Given the description of an element on the screen output the (x, y) to click on. 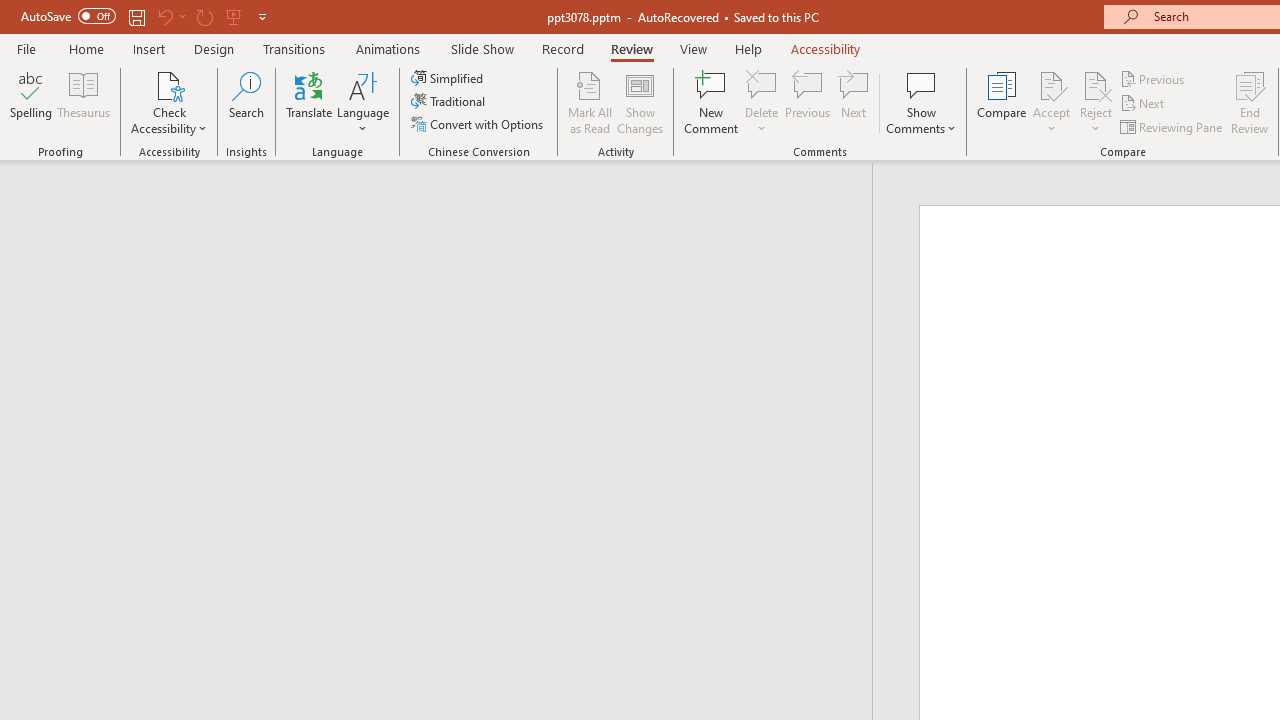
Reject (1096, 102)
Reject Change (1096, 84)
Accept (1051, 102)
Language (363, 102)
Show Changes (639, 102)
Spelling... (31, 102)
